Given the description of an element on the screen output the (x, y) to click on. 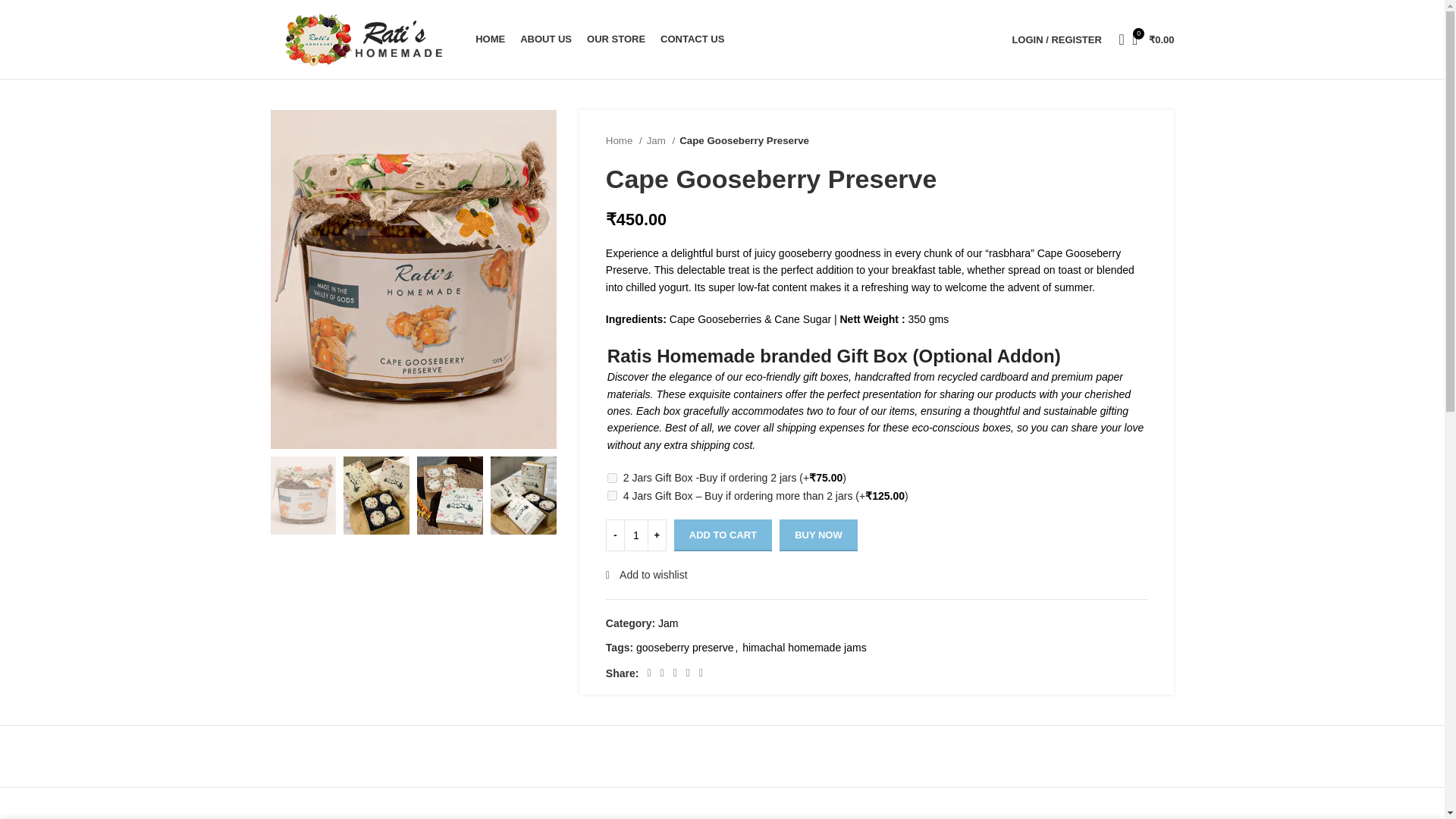
Jam (668, 623)
Home (623, 140)
Shopping cart (1153, 39)
2-jars-gift-box-buy-if-ordering-2-jars (612, 478)
gooseberry preserve (684, 647)
Add to wishlist (646, 574)
himachal homemade jams (804, 647)
ADD TO CART (722, 535)
My account (1056, 39)
4-jars-gift-box-buy-if-ordering-more-than-2-jars (612, 495)
